Given the description of an element on the screen output the (x, y) to click on. 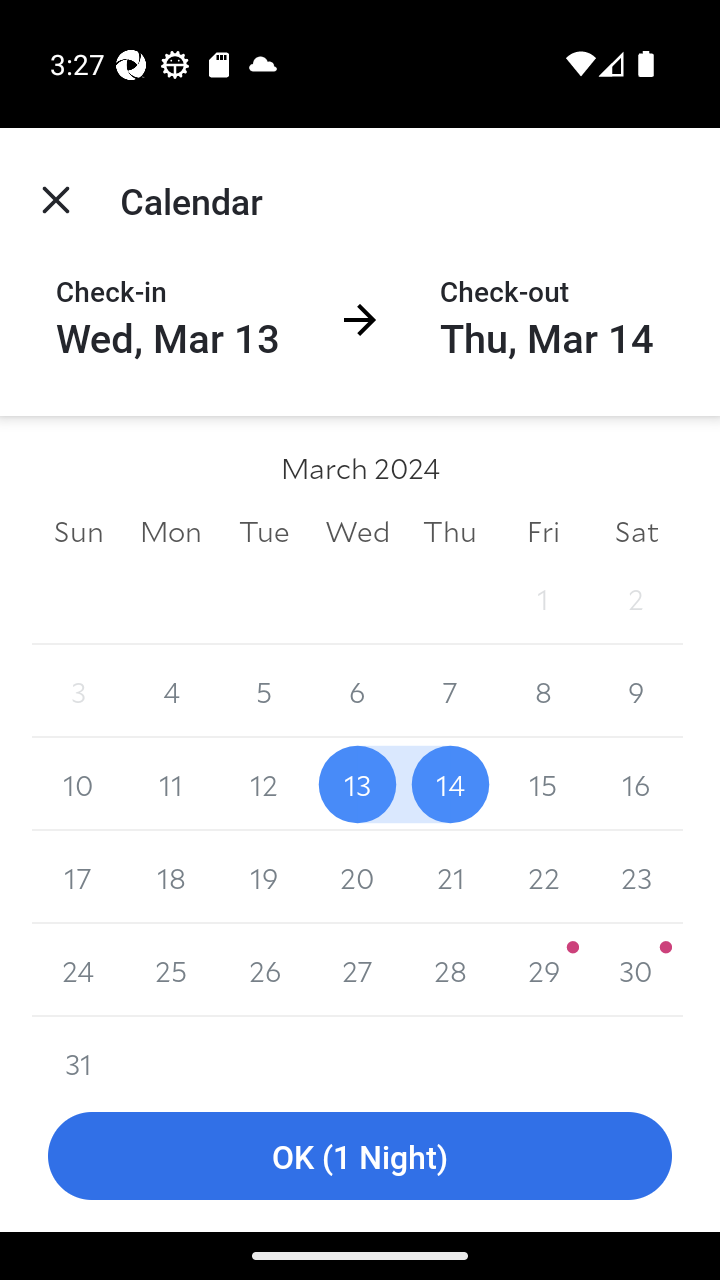
Sun (78, 530)
Mon (171, 530)
Tue (264, 530)
Wed (357, 530)
Thu (449, 530)
Fri (542, 530)
Sat (636, 530)
1 1 March 2024 (542, 598)
2 2 March 2024 (636, 598)
3 3 March 2024 (78, 691)
4 4 March 2024 (171, 691)
5 5 March 2024 (264, 691)
6 6 March 2024 (357, 691)
7 7 March 2024 (449, 691)
8 8 March 2024 (542, 691)
9 9 March 2024 (636, 691)
10 10 March 2024 (78, 784)
11 11 March 2024 (171, 784)
12 12 March 2024 (264, 784)
13 13 March 2024 (357, 784)
14 14 March 2024 (449, 784)
15 15 March 2024 (542, 784)
16 16 March 2024 (636, 784)
17 17 March 2024 (78, 877)
18 18 March 2024 (171, 877)
19 19 March 2024 (264, 877)
20 20 March 2024 (357, 877)
21 21 March 2024 (449, 877)
22 22 March 2024 (542, 877)
23 23 March 2024 (636, 877)
24 24 March 2024 (78, 970)
25 25 March 2024 (171, 970)
26 26 March 2024 (264, 970)
27 27 March 2024 (357, 970)
28 28 March 2024 (449, 970)
29 29 March 2024 (542, 970)
30 30 March 2024 (636, 970)
31 31 March 2024 (78, 1048)
OK (1 Night) (359, 1156)
